Given the description of an element on the screen output the (x, y) to click on. 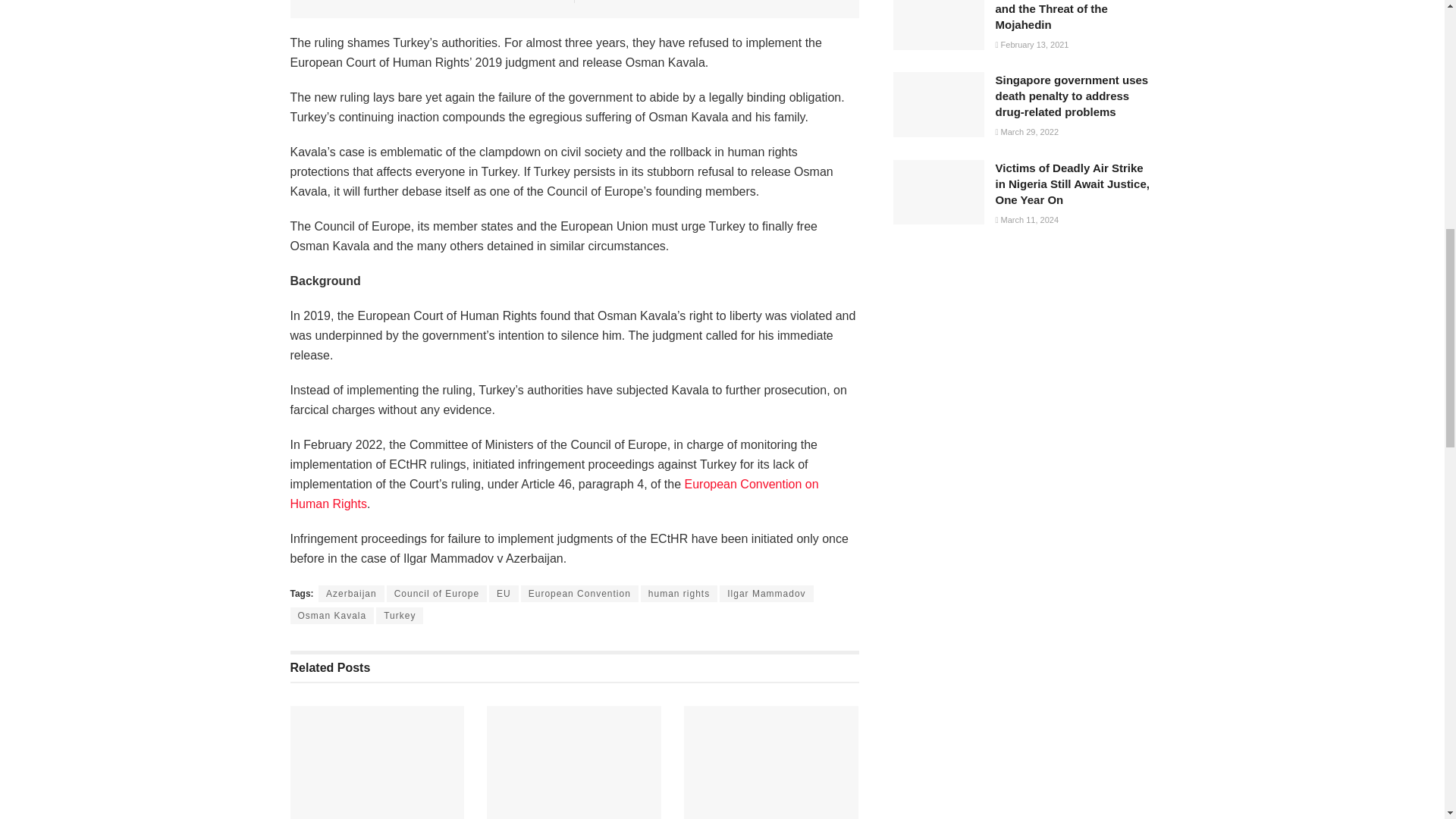
Council of Europe (436, 593)
European Convention on Human Rights (553, 493)
EU (503, 593)
European Convention (580, 593)
Azerbaijan (351, 593)
